Given the description of an element on the screen output the (x, y) to click on. 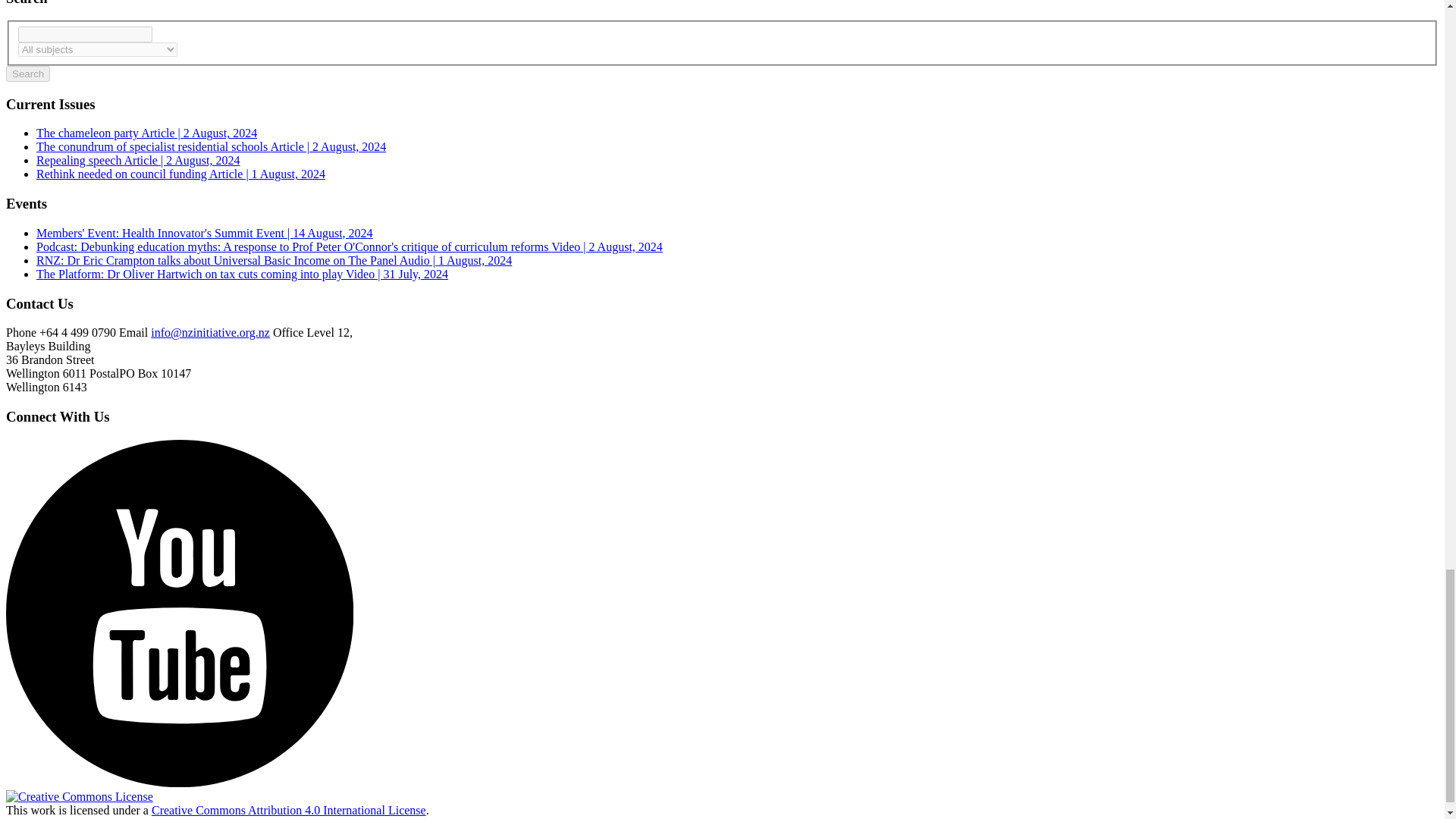
The chameleon party (146, 132)
Search (27, 73)
Rethink needed on council funding (180, 173)
Members' Event: Health Innovator's Summit (204, 232)
The conundrum of specialist residential schools (210, 146)
Repealing speech (138, 160)
